Given the description of an element on the screen output the (x, y) to click on. 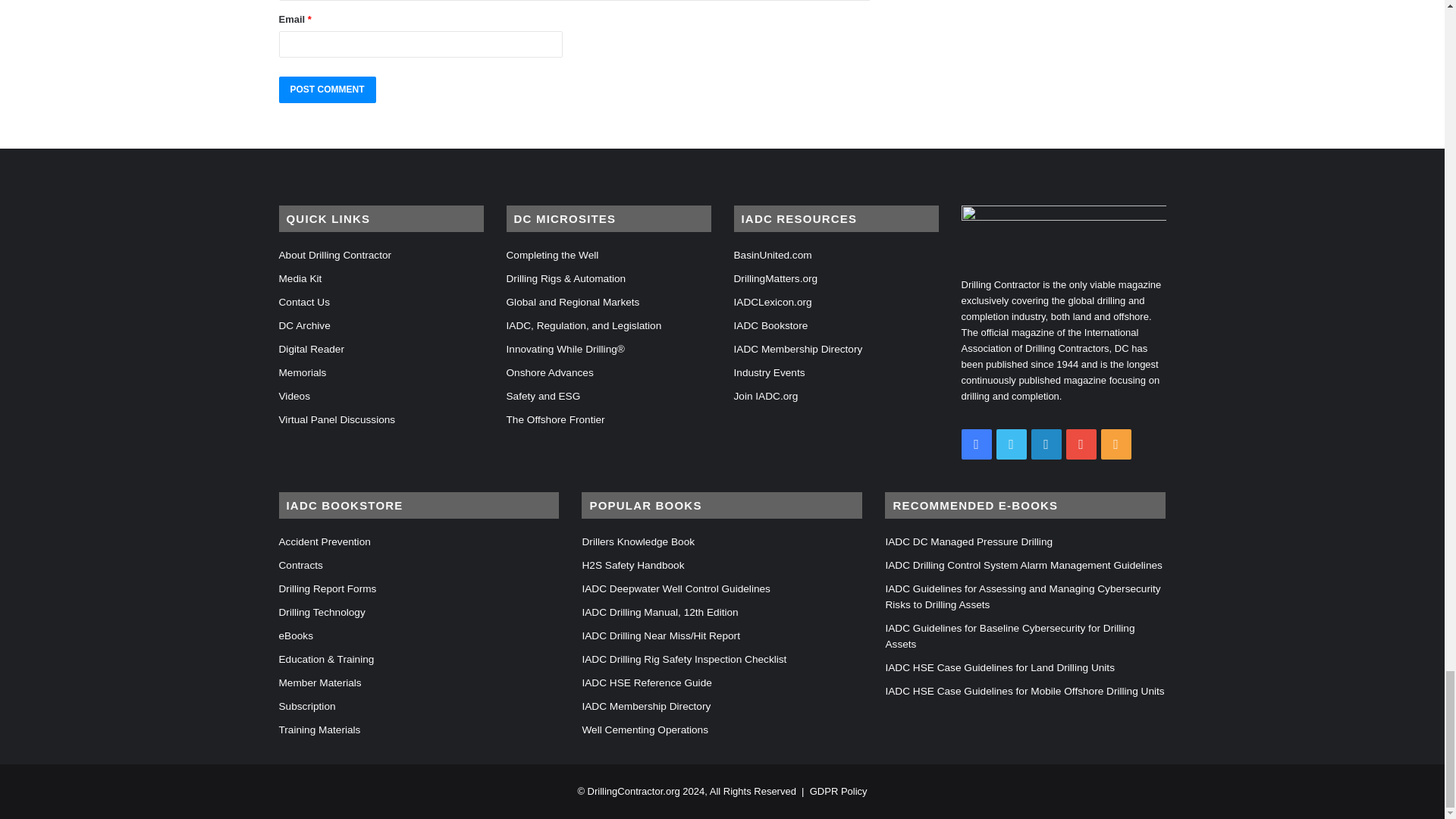
Latest Drilling News (633, 790)
Post Comment (327, 89)
